Given the description of an element on the screen output the (x, y) to click on. 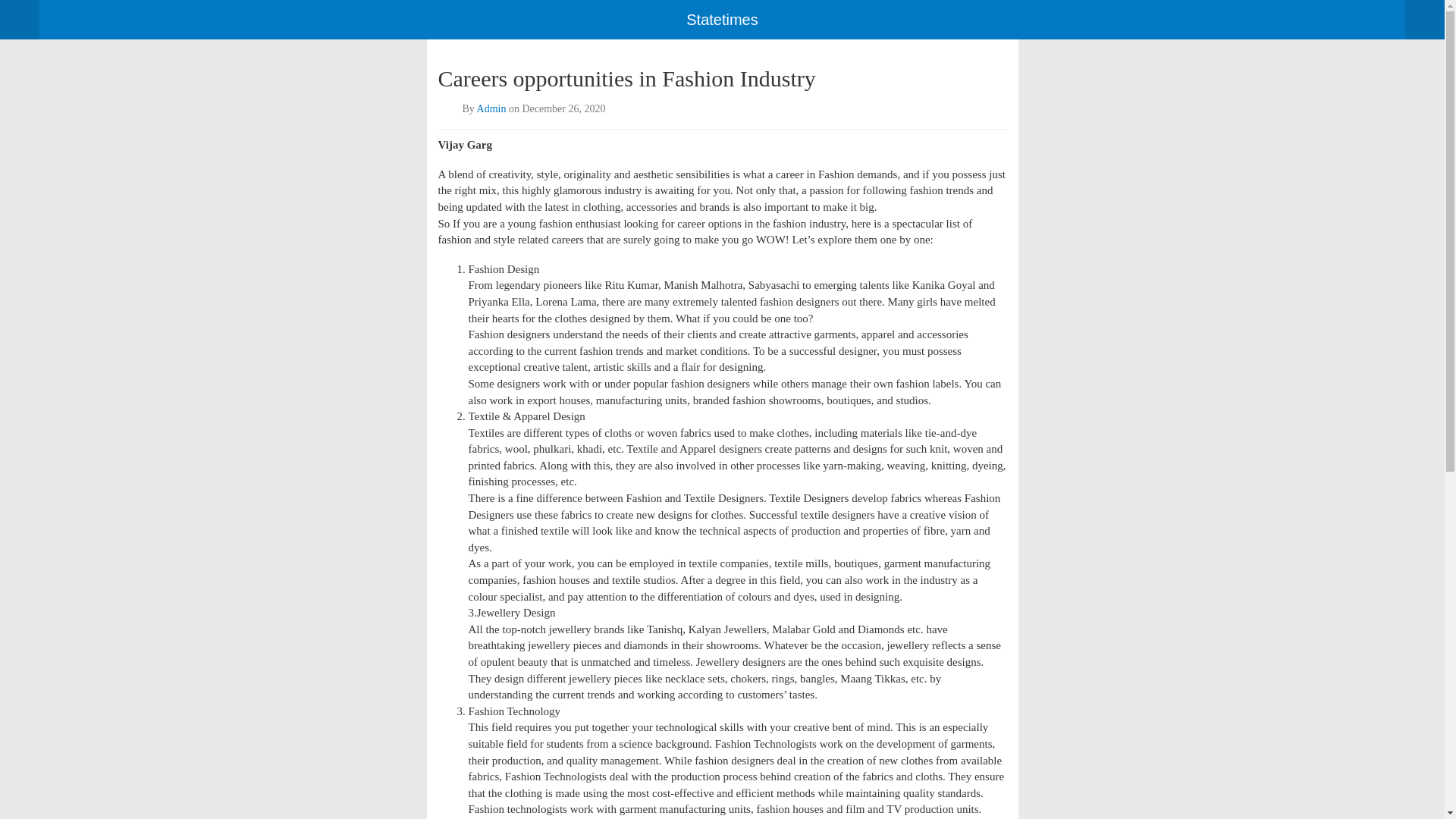
Admin (491, 108)
